Given the description of an element on the screen output the (x, y) to click on. 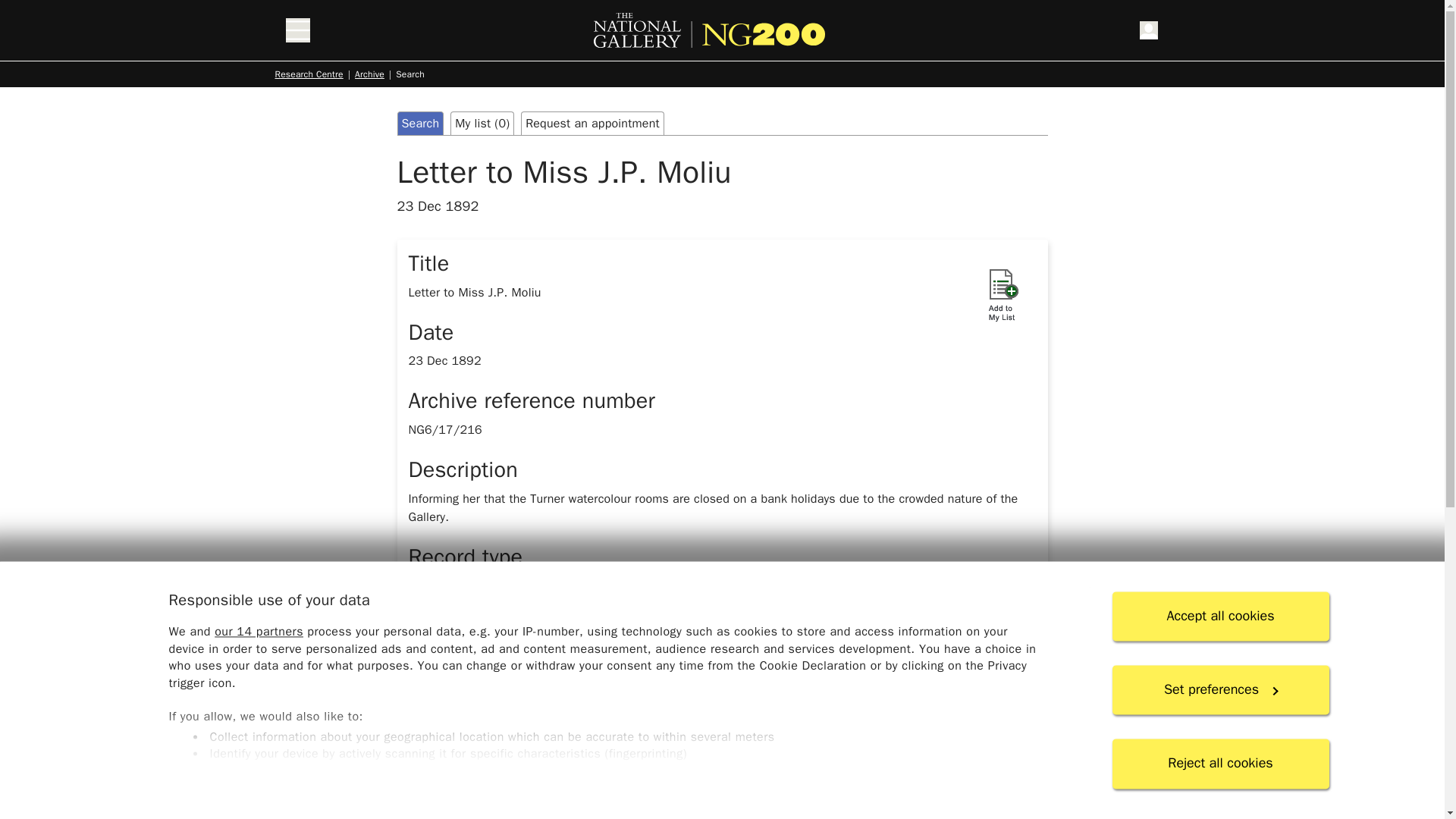
our 14 partners (258, 631)
details section (720, 774)
